Given the description of an element on the screen output the (x, y) to click on. 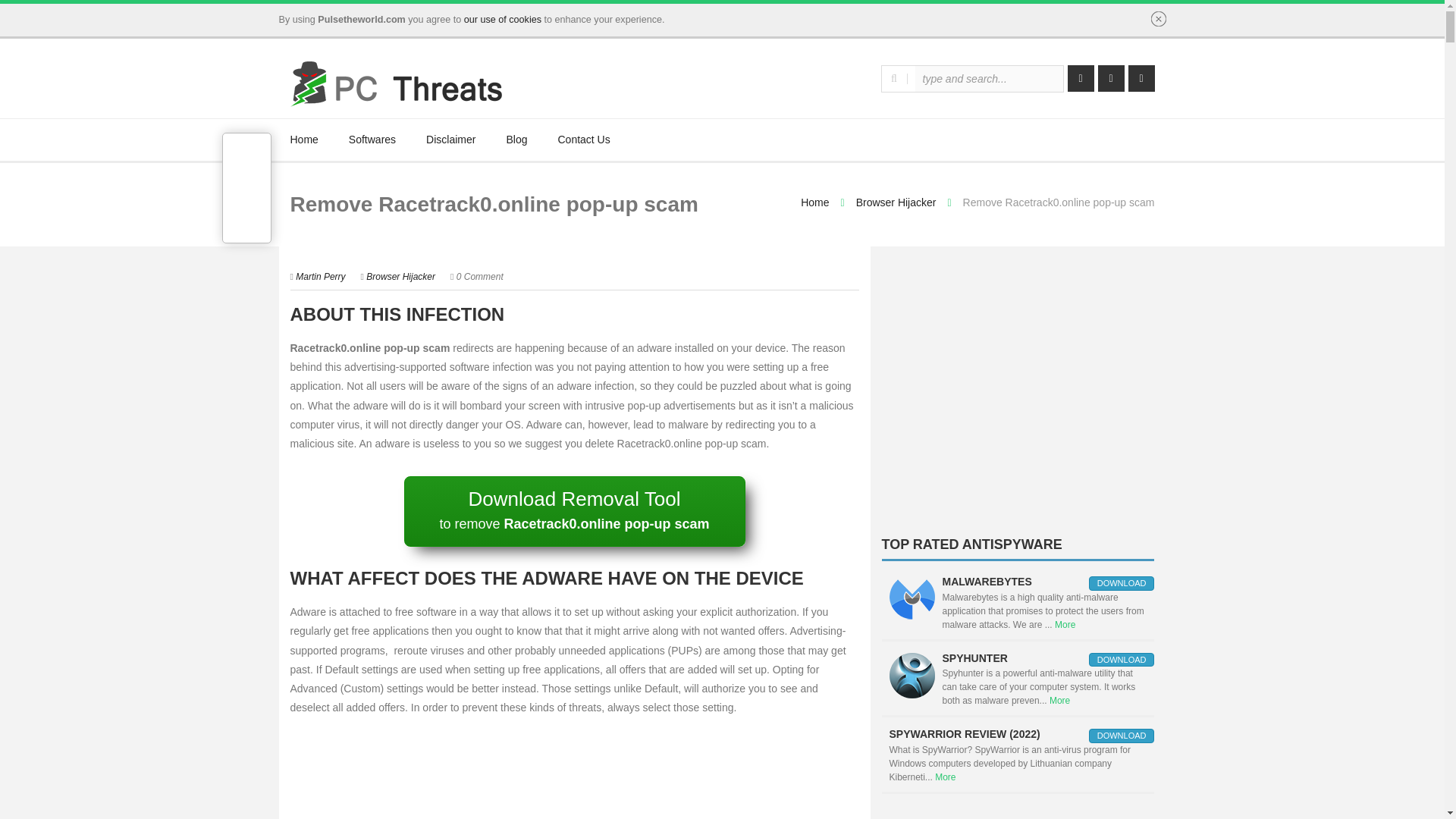
Martin Perry (320, 276)
Search (893, 78)
Advertisement (1017, 397)
Confirm (1158, 18)
Contact Us (583, 140)
Twitter Tweet Button (247, 160)
Browser Hijacker (896, 202)
Disclaimer (451, 140)
Search (893, 78)
